Given the description of an element on the screen output the (x, y) to click on. 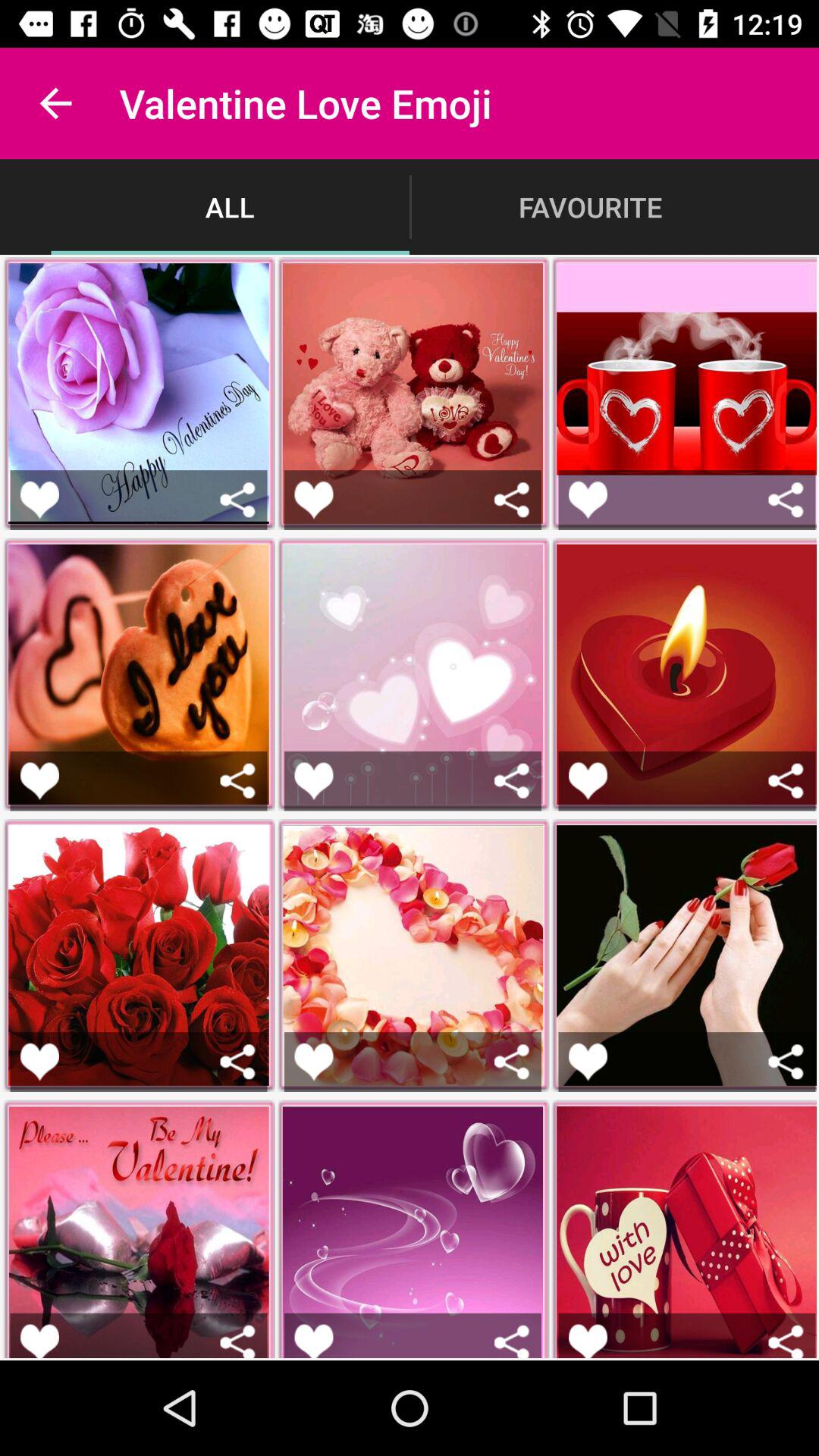
share (511, 1340)
